Given the description of an element on the screen output the (x, y) to click on. 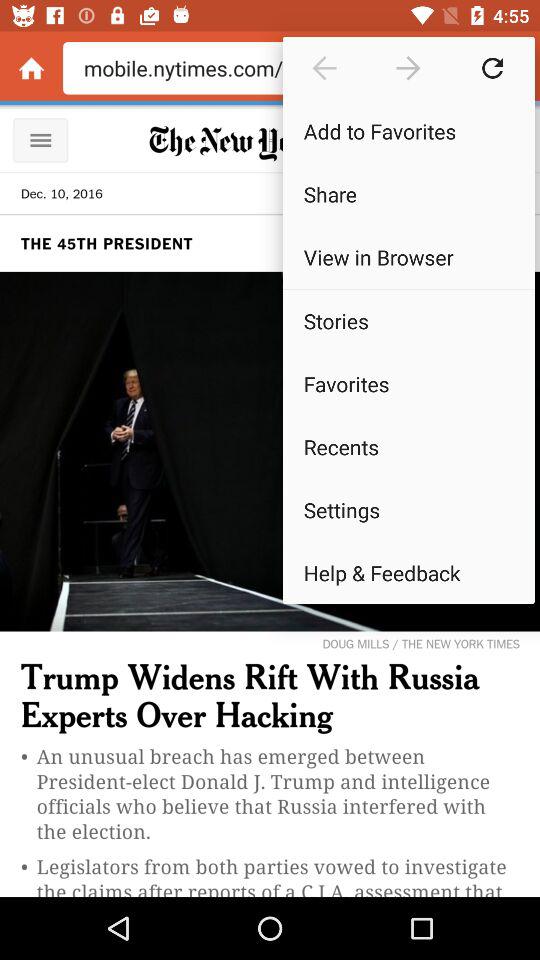
refresh list (492, 67)
